Given the description of an element on the screen output the (x, y) to click on. 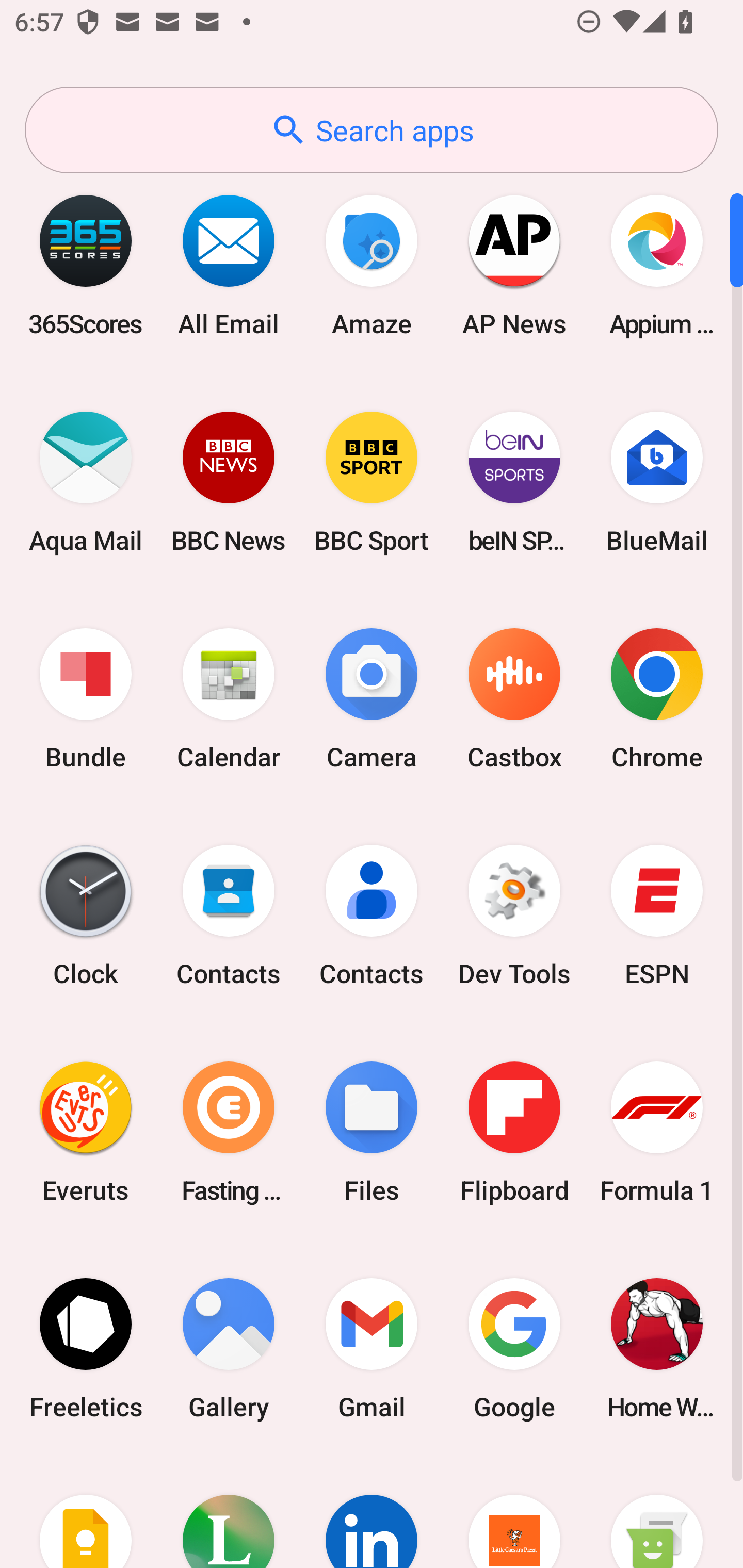
  Search apps (371, 130)
365Scores (85, 264)
All Email (228, 264)
Amaze (371, 264)
AP News (514, 264)
Appium Settings (656, 264)
Aqua Mail (85, 482)
BBC News (228, 482)
BBC Sport (371, 482)
beIN SPORTS (514, 482)
BlueMail (656, 482)
Bundle (85, 699)
Calendar (228, 699)
Camera (371, 699)
Castbox (514, 699)
Chrome (656, 699)
Clock (85, 915)
Contacts (228, 915)
Contacts (371, 915)
Dev Tools (514, 915)
ESPN (656, 915)
Everuts (85, 1131)
Fasting Coach (228, 1131)
Files (371, 1131)
Flipboard (514, 1131)
Formula 1 (656, 1131)
Freeletics (85, 1348)
Gallery (228, 1348)
Gmail (371, 1348)
Google (514, 1348)
Home Workout (656, 1348)
